Given the description of an element on the screen output the (x, y) to click on. 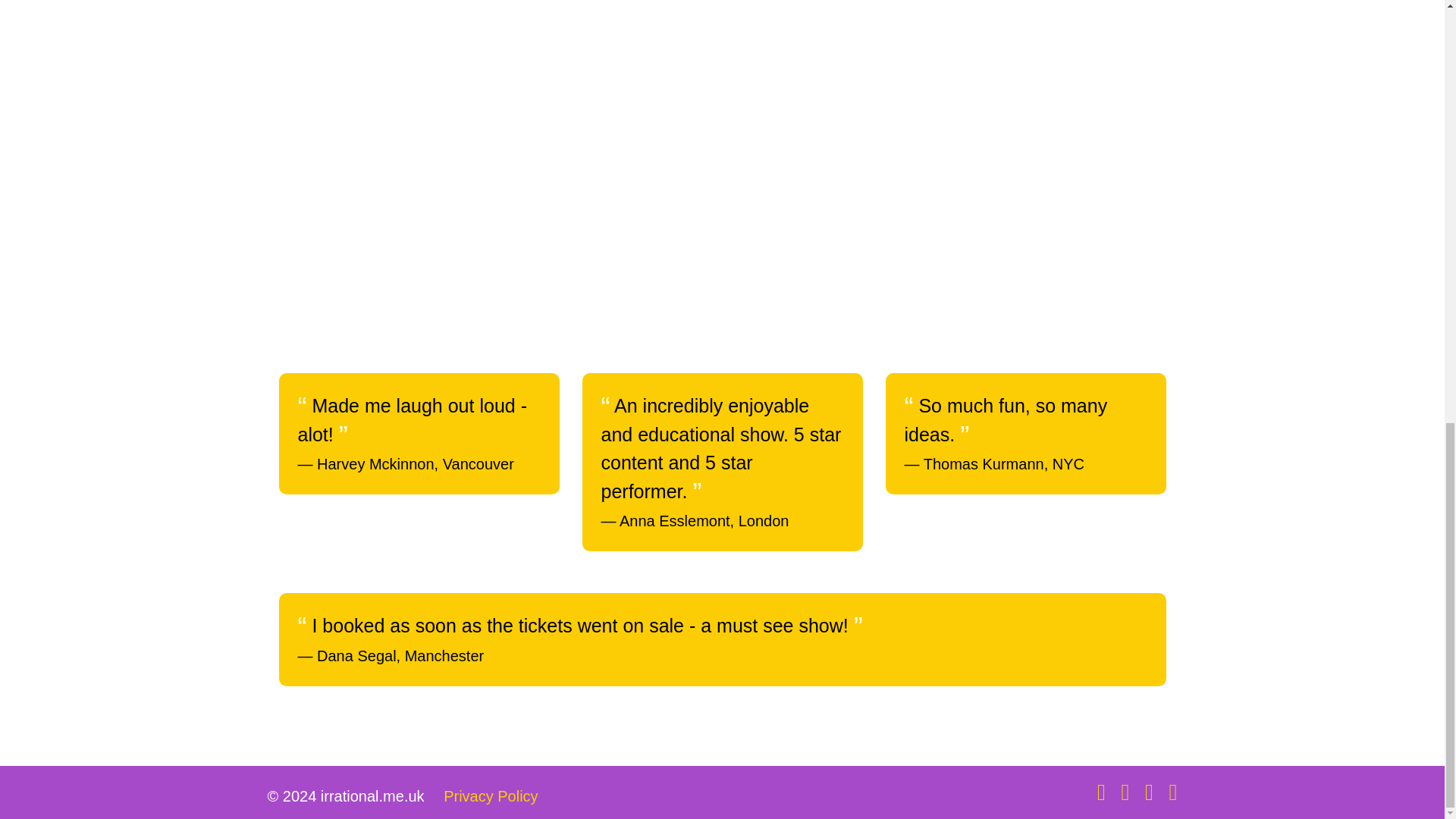
Privacy Policy (490, 795)
